Given the description of an element on the screen output the (x, y) to click on. 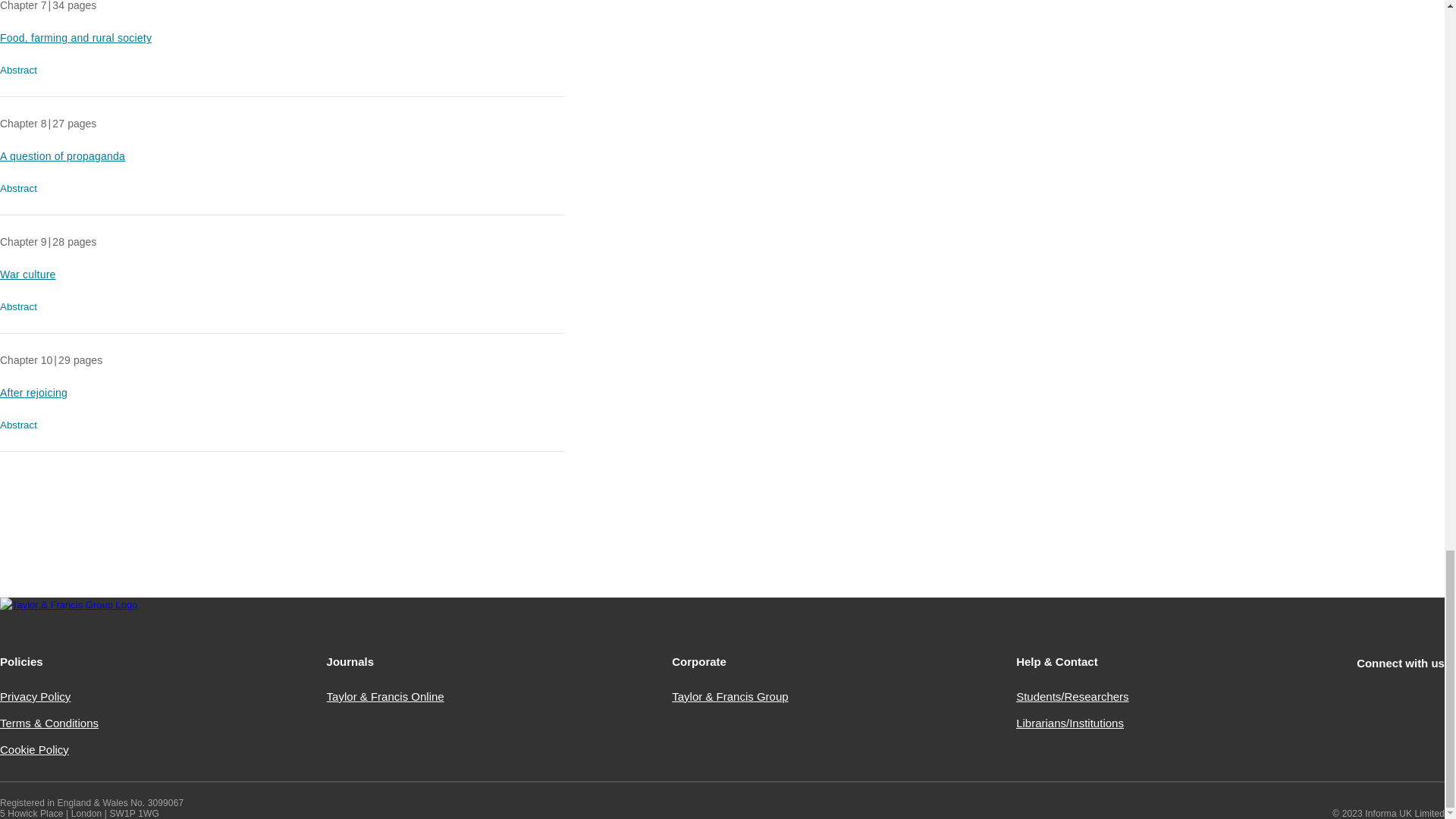
A question of propaganda (62, 155)
Abstract (21, 424)
Abstract (21, 187)
War culture (28, 274)
Abstract (21, 305)
Privacy Policy (34, 696)
Abstract (21, 69)
Food, farming and rural society (75, 37)
Cookie Policy (34, 749)
After rejoicing (33, 392)
